Given the description of an element on the screen output the (x, y) to click on. 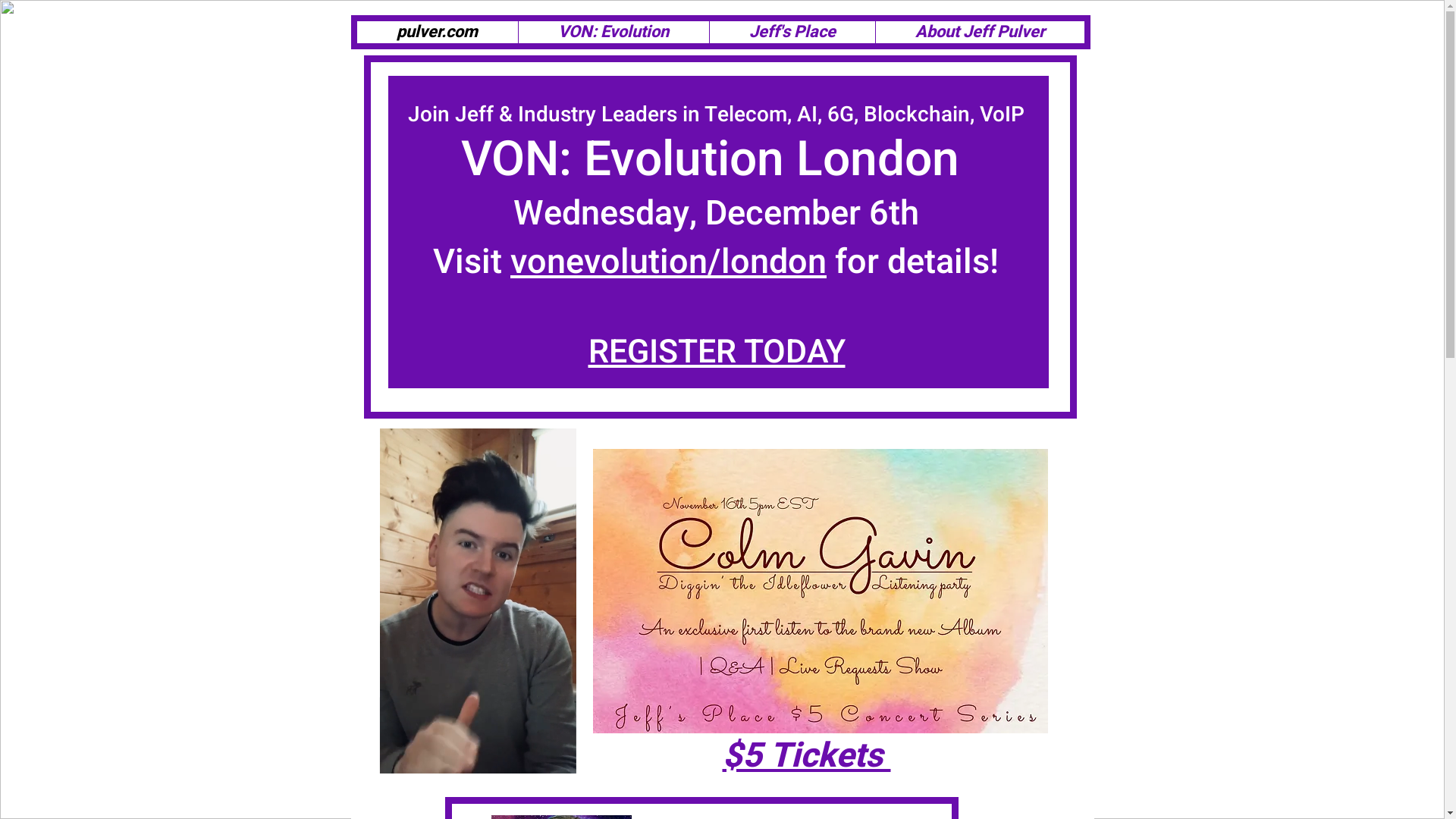
About Jeff Pulver Element type: text (979, 32)
REGISTER TODAY Element type: text (716, 352)
VON: Evolution Element type: text (612, 32)
pulver.com Element type: text (436, 32)
$5 Tickets  Element type: text (805, 756)
Jeff's Place Element type: text (791, 32)
IMG-20231104-WA0007.jpg Element type: hover (820, 590)
vonevolution/london Element type: text (668, 262)
